Given the description of an element on the screen output the (x, y) to click on. 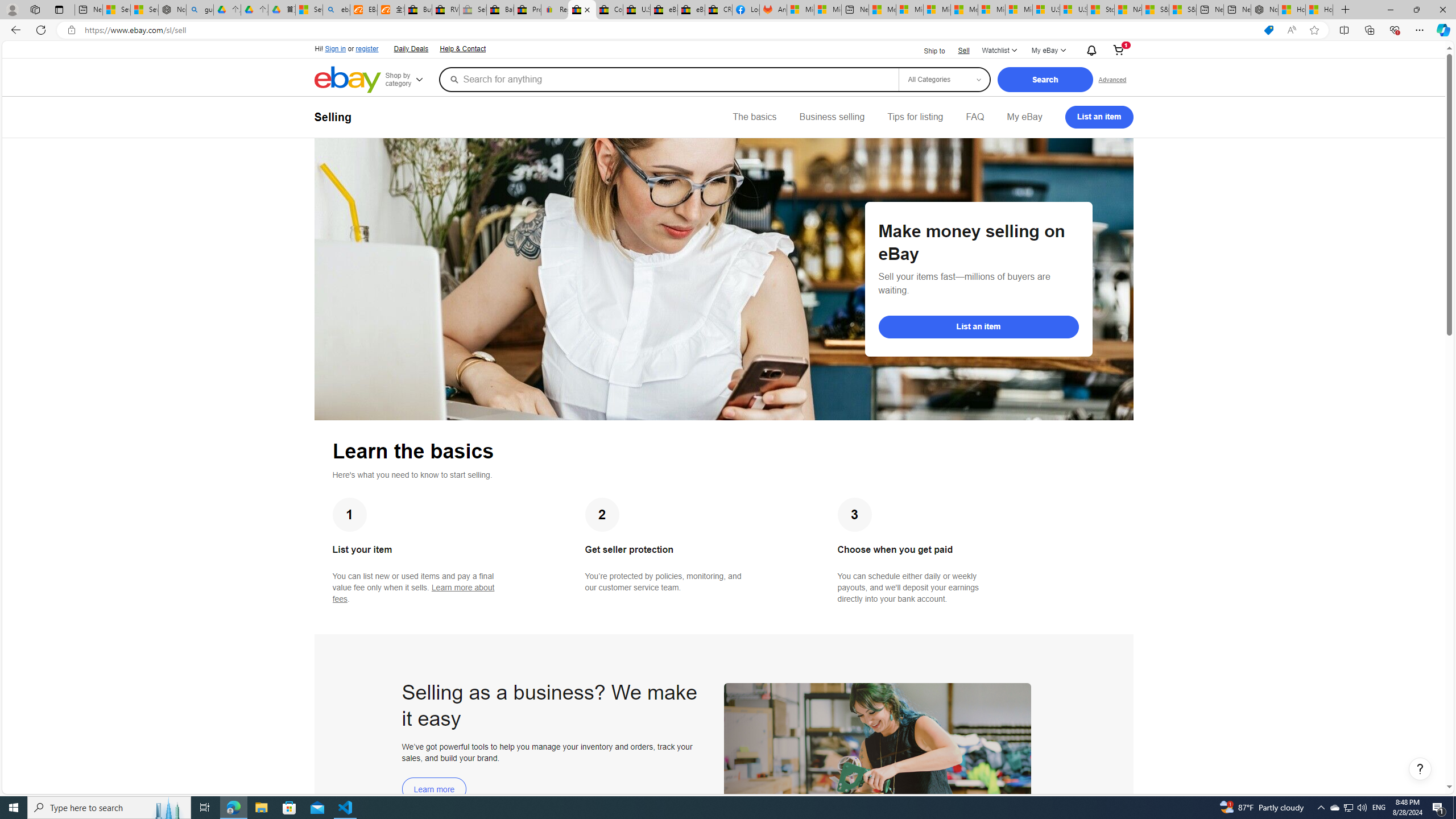
Select a category for search (944, 78)
List an item (977, 326)
The basics (754, 116)
U.S. State Privacy Disclosures - eBay Inc. (636, 9)
Buy Auto Parts & Accessories | eBay (418, 9)
Help & Contact (462, 49)
The basics (754, 116)
Consumer Health Data Privacy Policy - eBay Inc. (609, 9)
Your shopping cart contains 1 item (1118, 50)
This site has coupons! Shopping in Microsoft Edge (1268, 29)
